Given the description of an element on the screen output the (x, y) to click on. 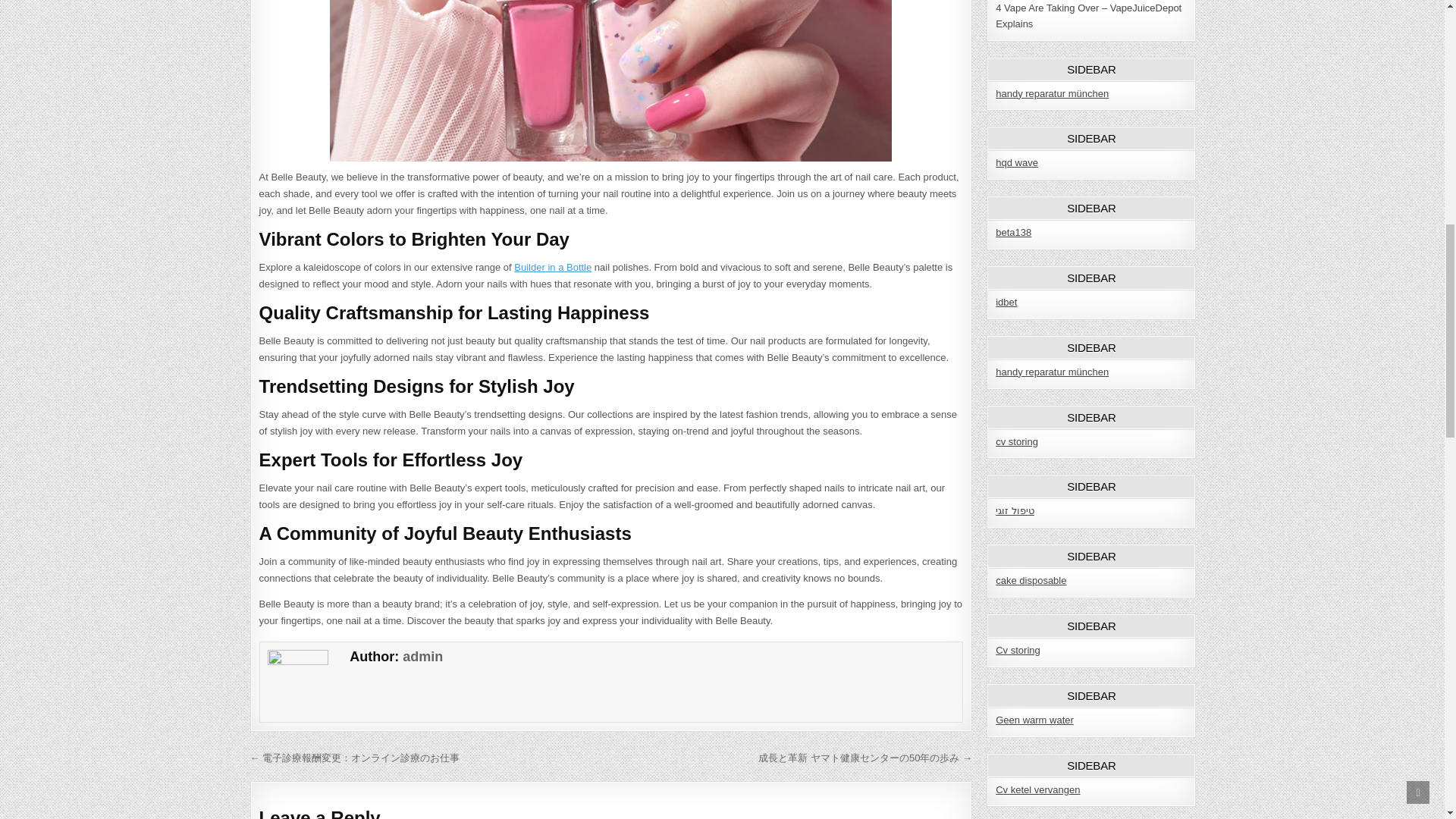
cv storing (1016, 441)
hqd wave (1016, 162)
cake disposable (1030, 580)
Cv storing (1018, 650)
admin (422, 656)
idbet (1005, 301)
beta138 (1012, 232)
Builder in a Bottle (552, 266)
